Given the description of an element on the screen output the (x, y) to click on. 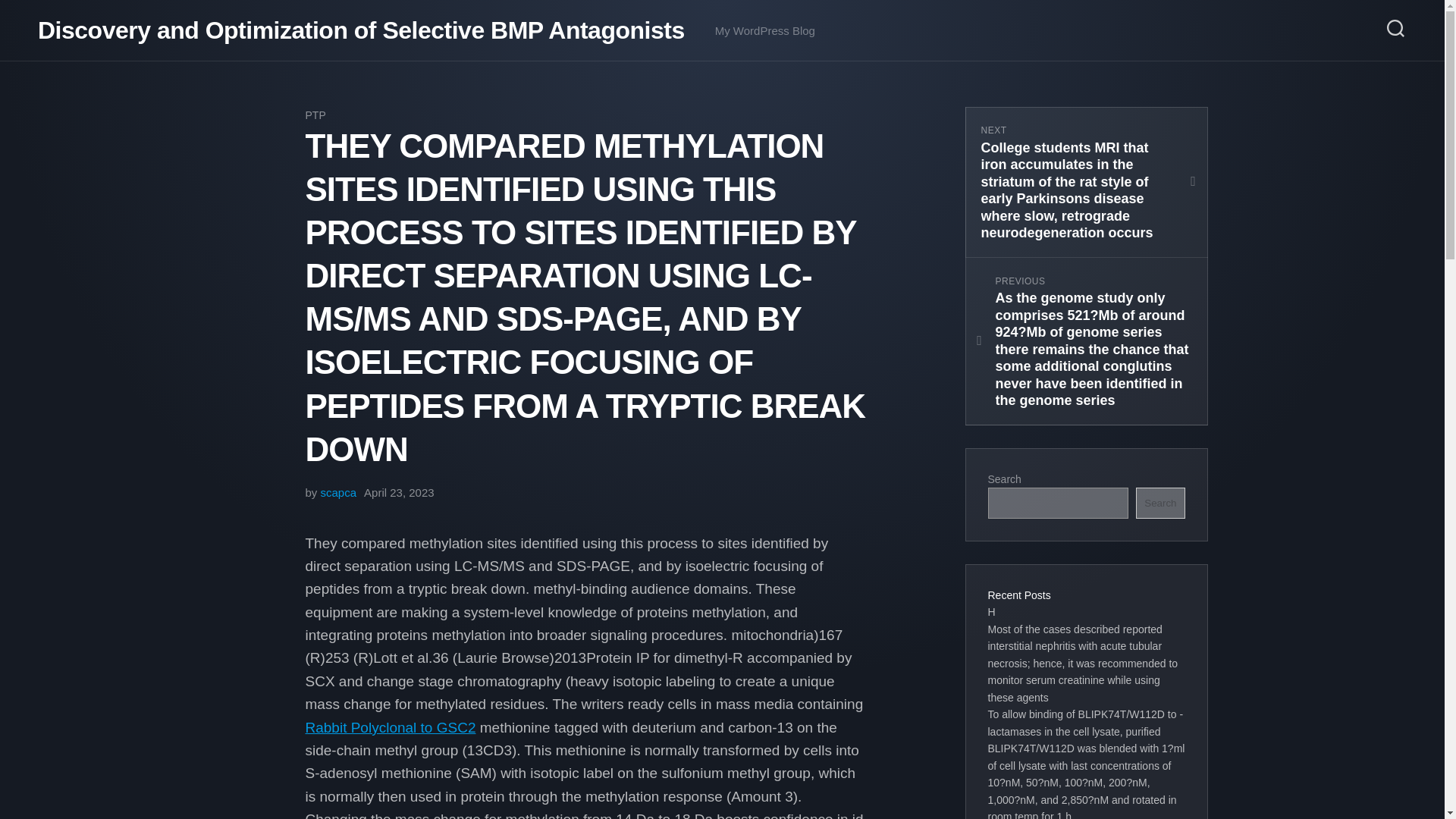
Discovery and Optimization of Selective BMP Antagonists (360, 30)
PTP (314, 114)
Posts by scapca (338, 492)
Search (1160, 502)
scapca (338, 492)
Rabbit Polyclonal to GSC2 (390, 727)
